Given the description of an element on the screen output the (x, y) to click on. 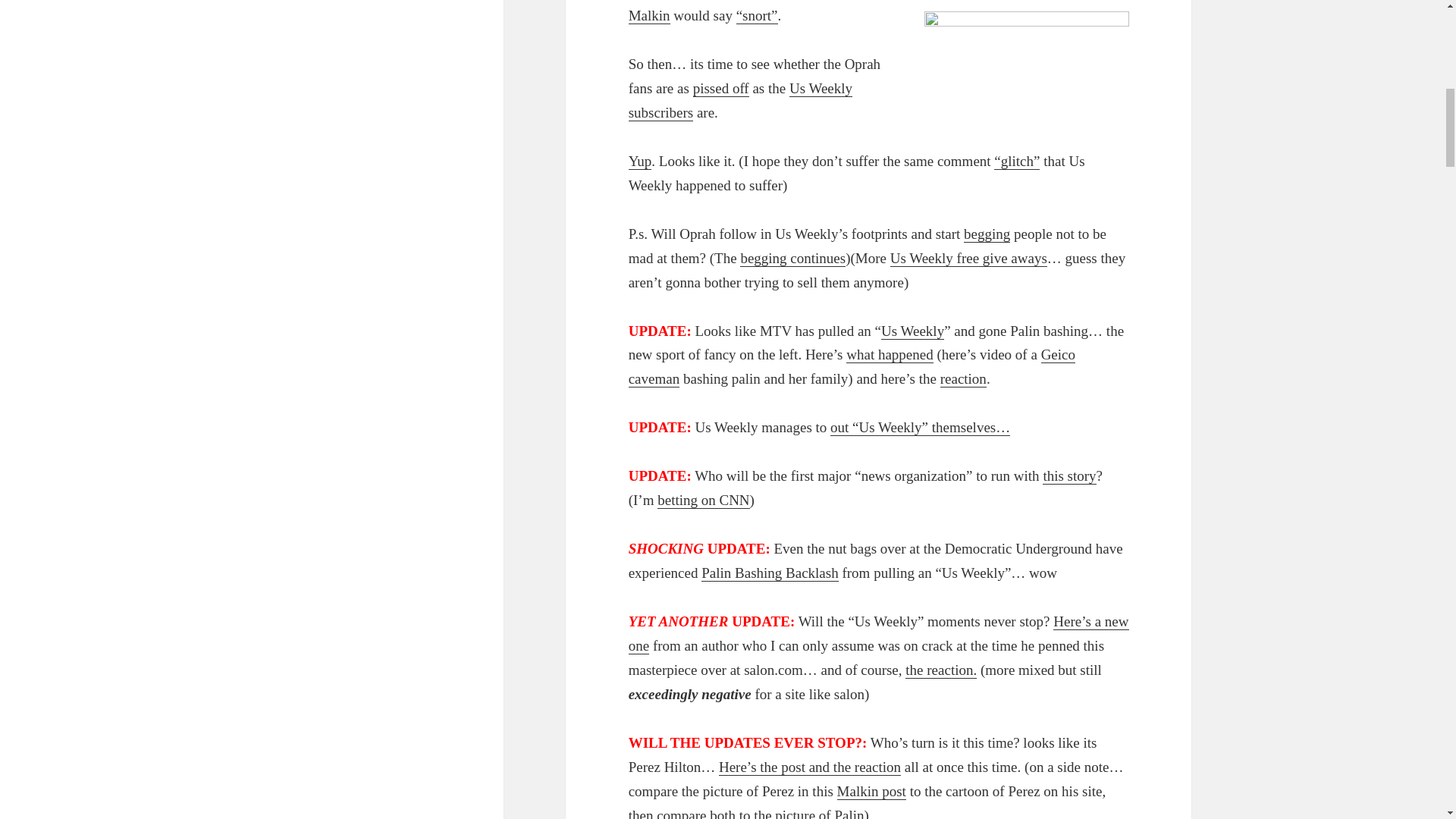
Oprah Forums (640, 161)
palin (1026, 65)
Us Weekly comment thread (721, 88)
Yup (640, 161)
Geico caveman (851, 366)
Palin Bashing Backlash (769, 573)
yet they still throw out baseless attacks (967, 258)
the reaction. (940, 669)
Us Weekly at its best... (911, 330)
pissed off (721, 88)
